Given the description of an element on the screen output the (x, y) to click on. 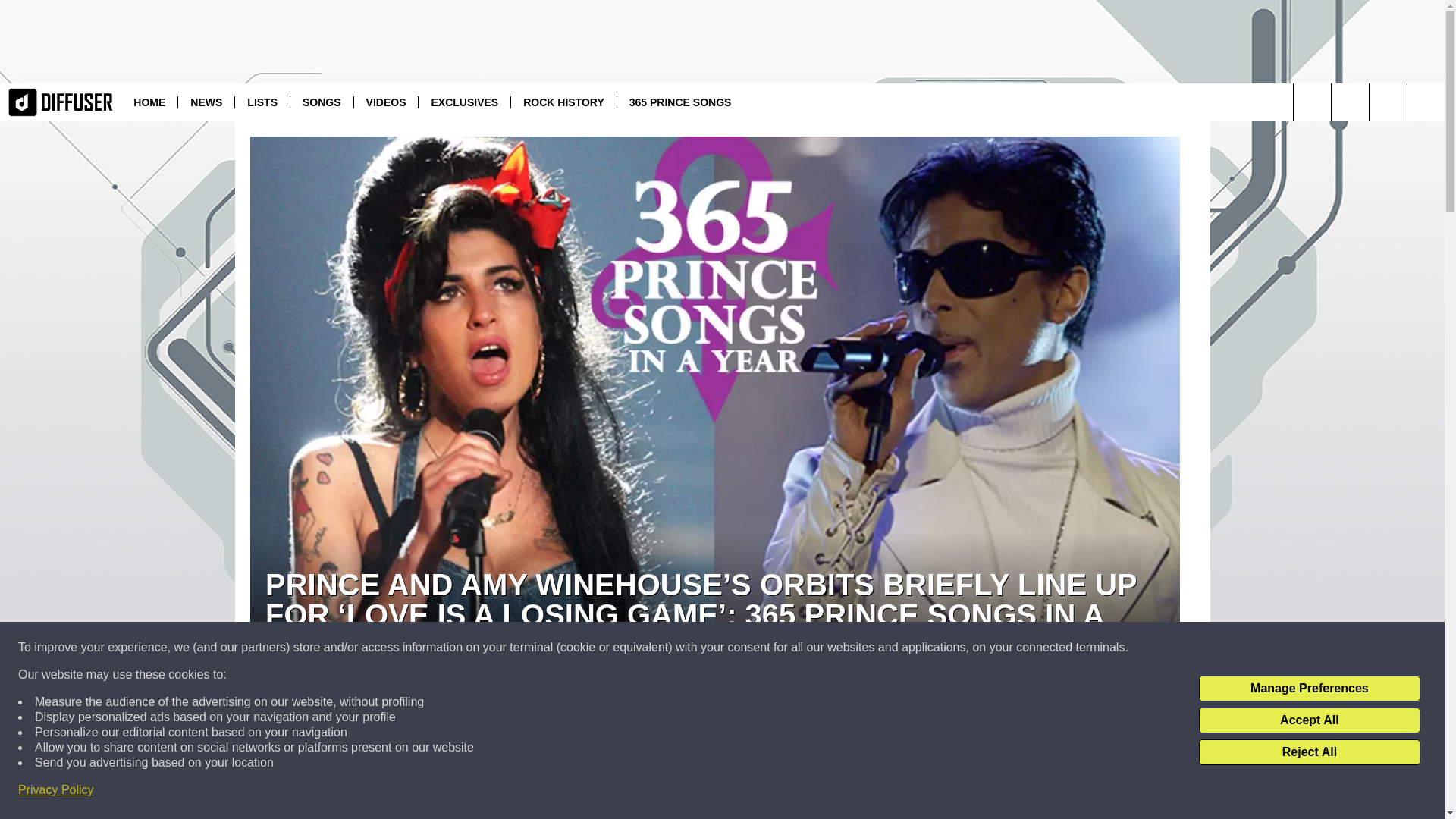
Debra Filcman (335, 681)
NEWS (205, 102)
TWEET (912, 767)
EXCLUSIVES (464, 102)
Accept All (1309, 720)
SHARE (517, 767)
Visit us on Youtube (1350, 102)
TWEET (912, 767)
Reject All (1309, 751)
Privacy Policy (55, 789)
Manage Preferences (1309, 688)
LISTS (261, 102)
SONGS (321, 102)
Debra Filcman (278, 681)
Prince (827, 816)
